Given the description of an element on the screen output the (x, y) to click on. 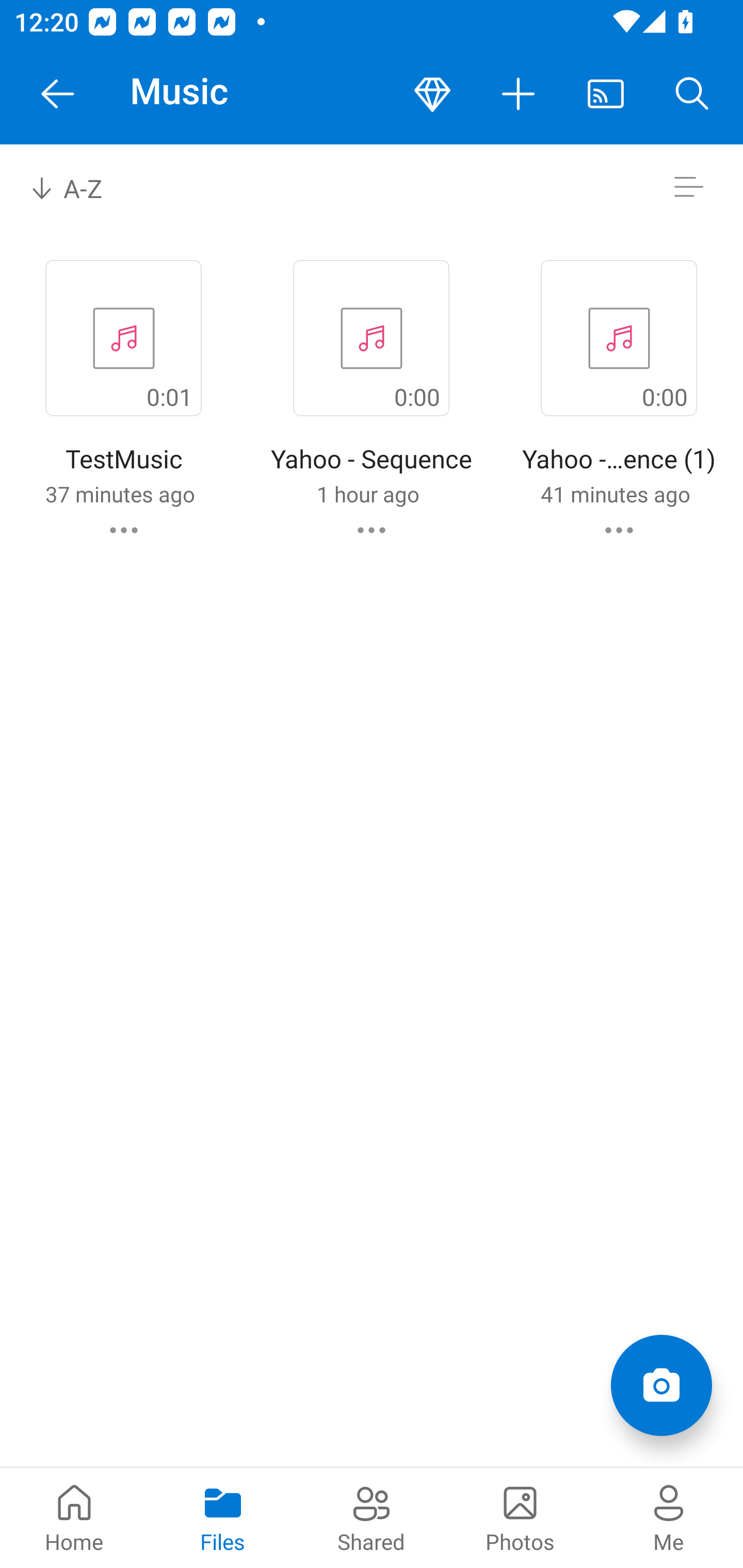
Navigate Up (57, 93)
Cast. Disconnected (605, 93)
Premium button (432, 93)
More actions button (518, 93)
Search button (692, 93)
A-Z Sort by combo box, sort by name, A to Z (80, 187)
Switch to list view (688, 187)
37 minutes ago (119, 493)
1 hour ago (367, 493)
41 minutes ago (615, 493)
TestMusic commands (123, 529)
Yahoo - Sequence commands (371, 529)
Yahoo - Sequence (1) commands (618, 529)
Add items Scan (660, 1385)
Home pivot Home (74, 1517)
Shared pivot Shared (371, 1517)
Photos pivot Photos (519, 1517)
Me pivot Me (668, 1517)
